Given the description of an element on the screen output the (x, y) to click on. 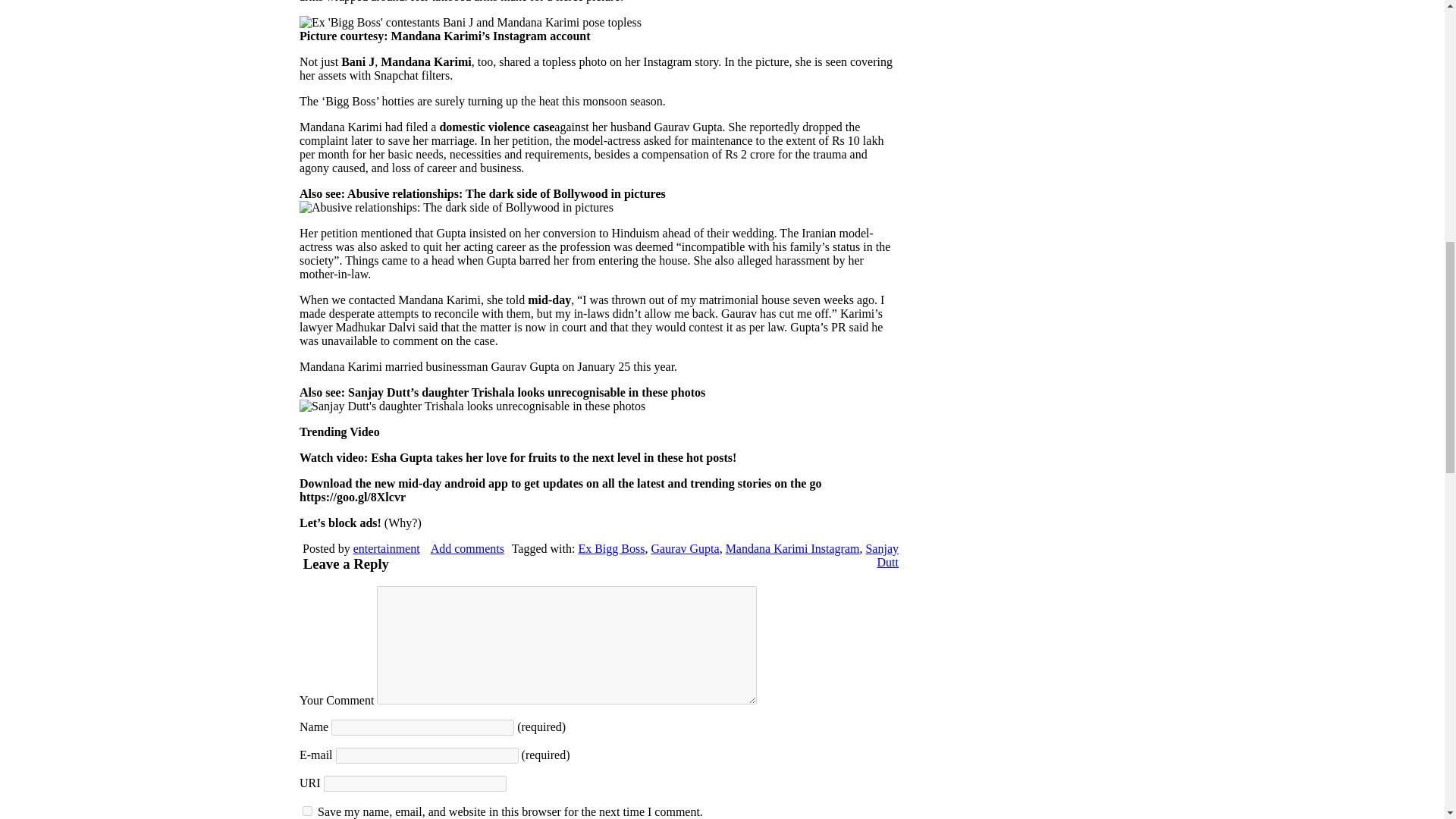
Add comments (466, 548)
Gaurav Gupta (684, 548)
entertainment (386, 548)
yes (307, 810)
Sanjay Dutt (881, 555)
Mandana Karimi Instagram (792, 548)
Ex Bigg Boss (611, 548)
